Given the description of an element on the screen output the (x, y) to click on. 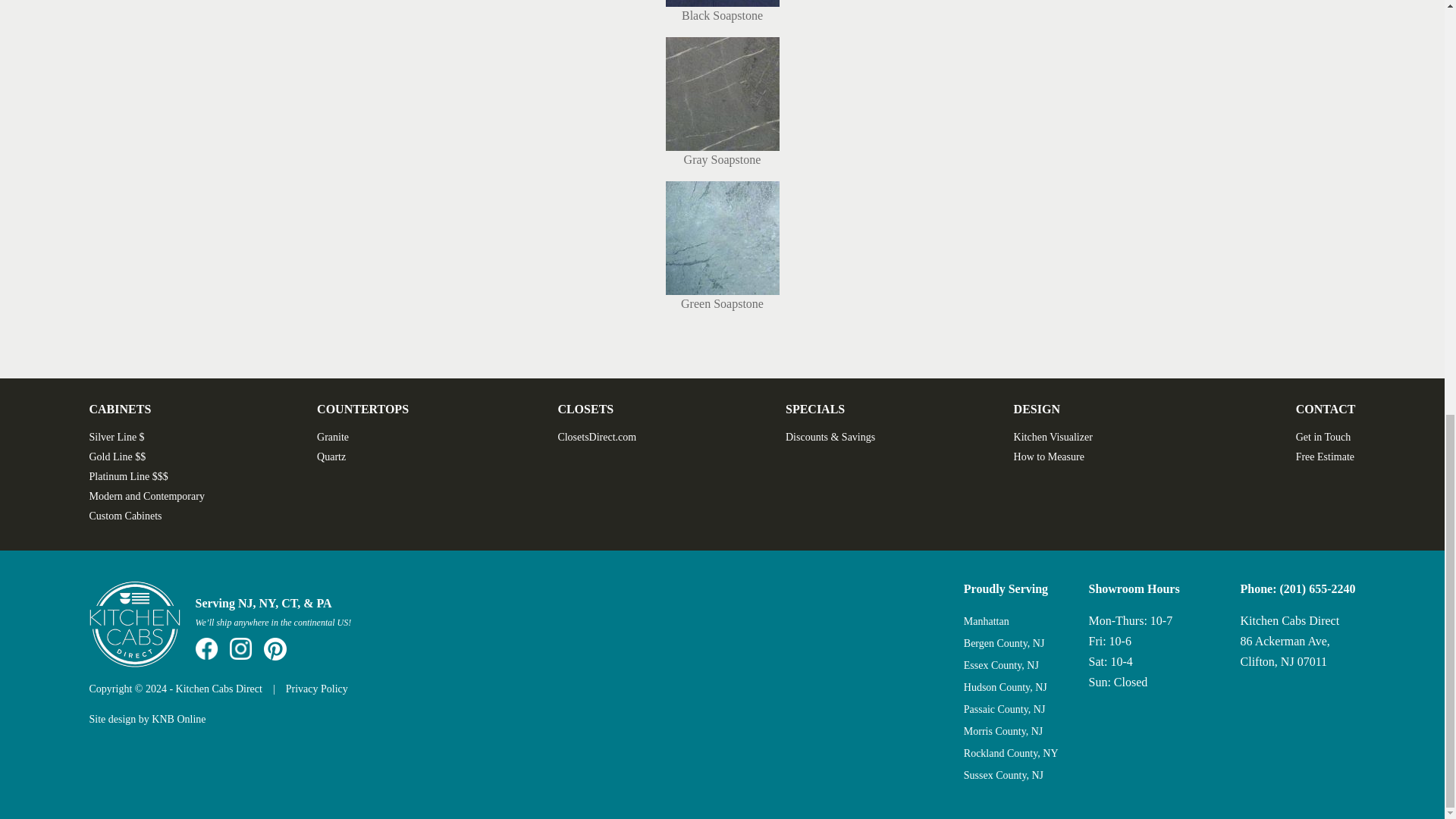
How to Measure (1048, 456)
Kitchen Visualizer (1053, 437)
Quartz (331, 456)
Custom Cabinets (124, 515)
Modern and Contemporary (146, 496)
Granite (333, 437)
ClosetsDirect.com (596, 437)
